Given the description of an element on the screen output the (x, y) to click on. 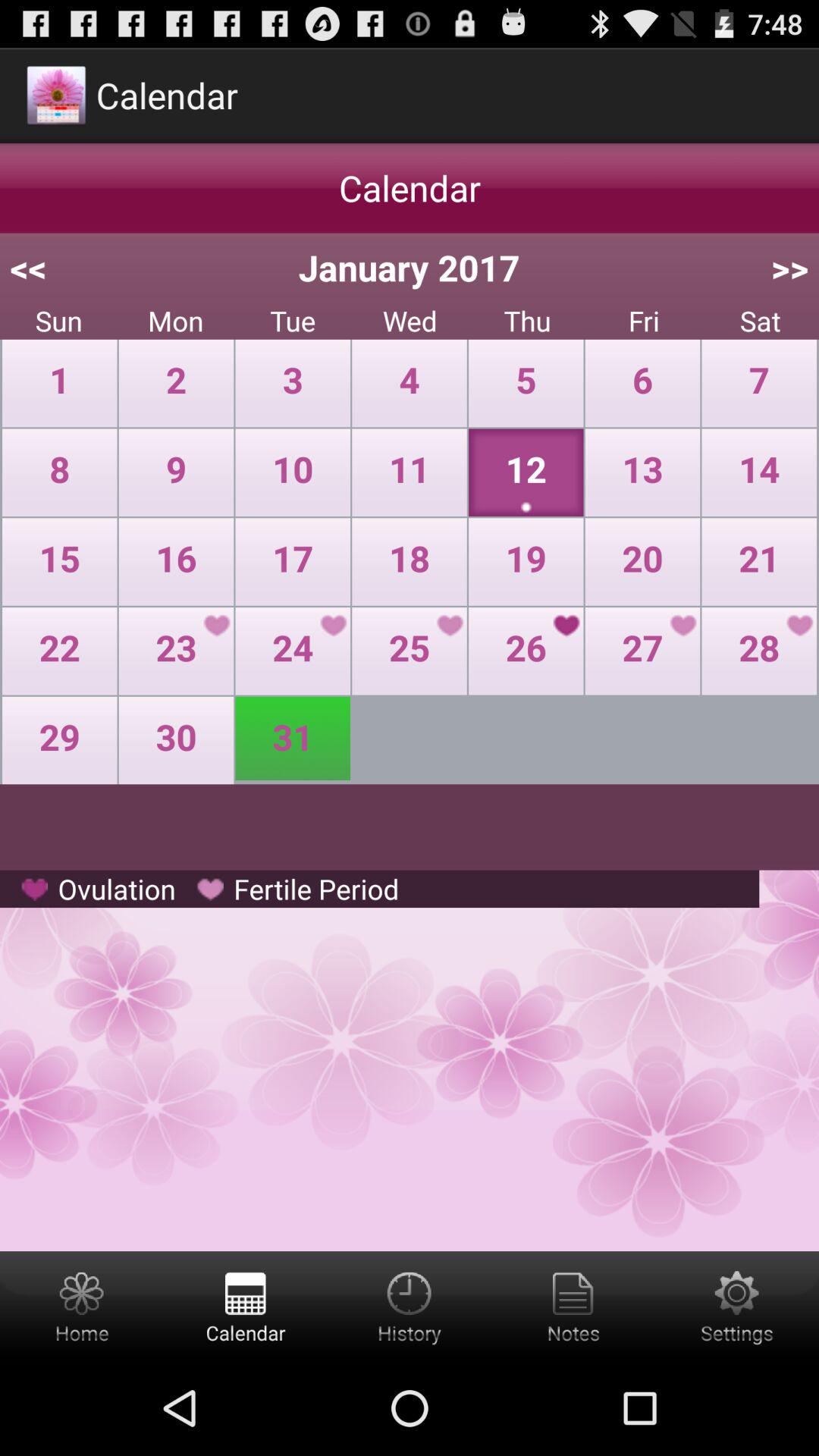
setting option (737, 1305)
